Given the description of an element on the screen output the (x, y) to click on. 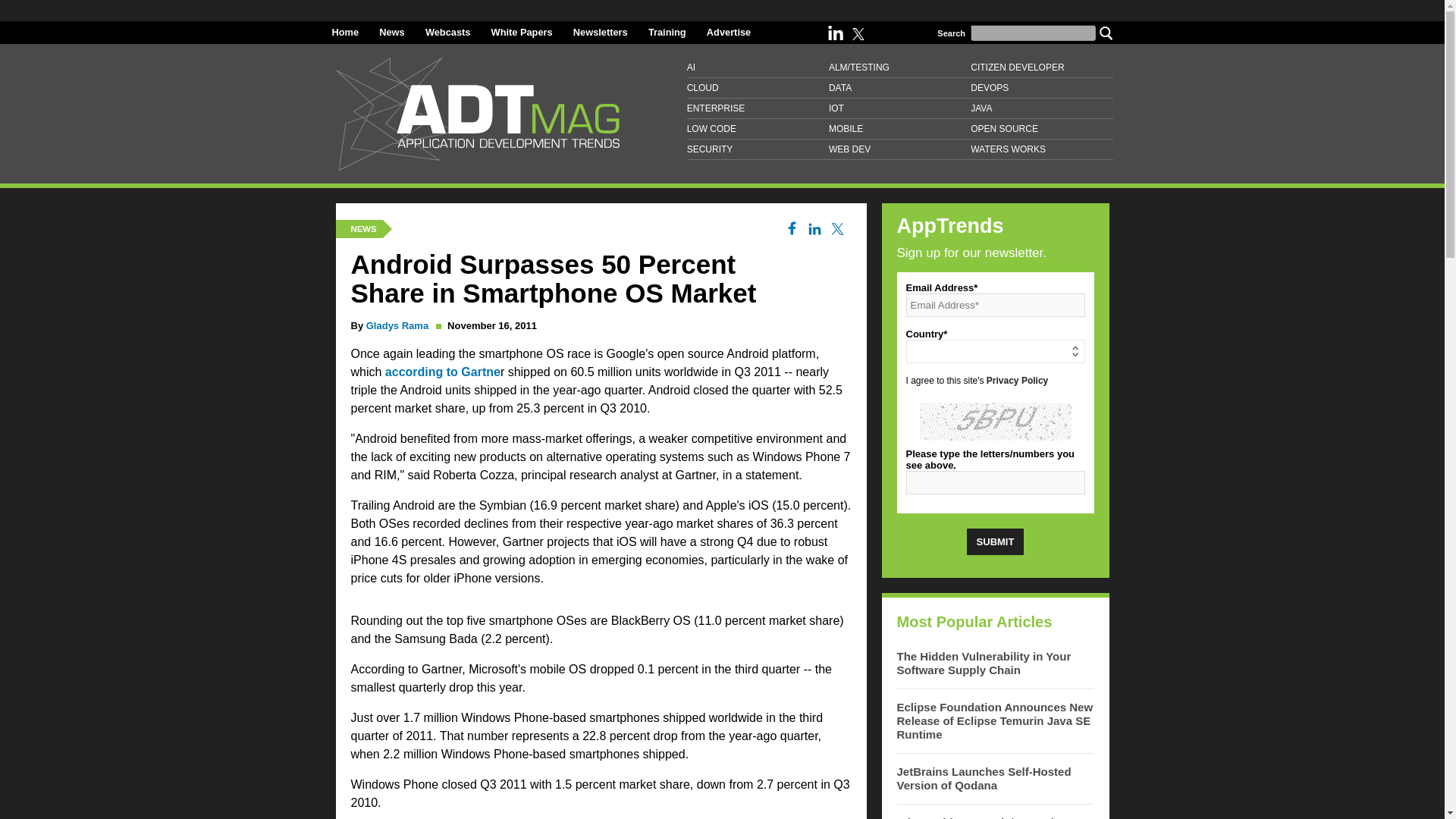
Training (666, 31)
according to Gartne (442, 371)
AI (757, 67)
White Papers (522, 31)
Gladys Rama (397, 325)
DATA (899, 87)
LOW CODE (757, 128)
Webcasts (447, 31)
WEB DEV (899, 149)
Home (345, 31)
